Given the description of an element on the screen output the (x, y) to click on. 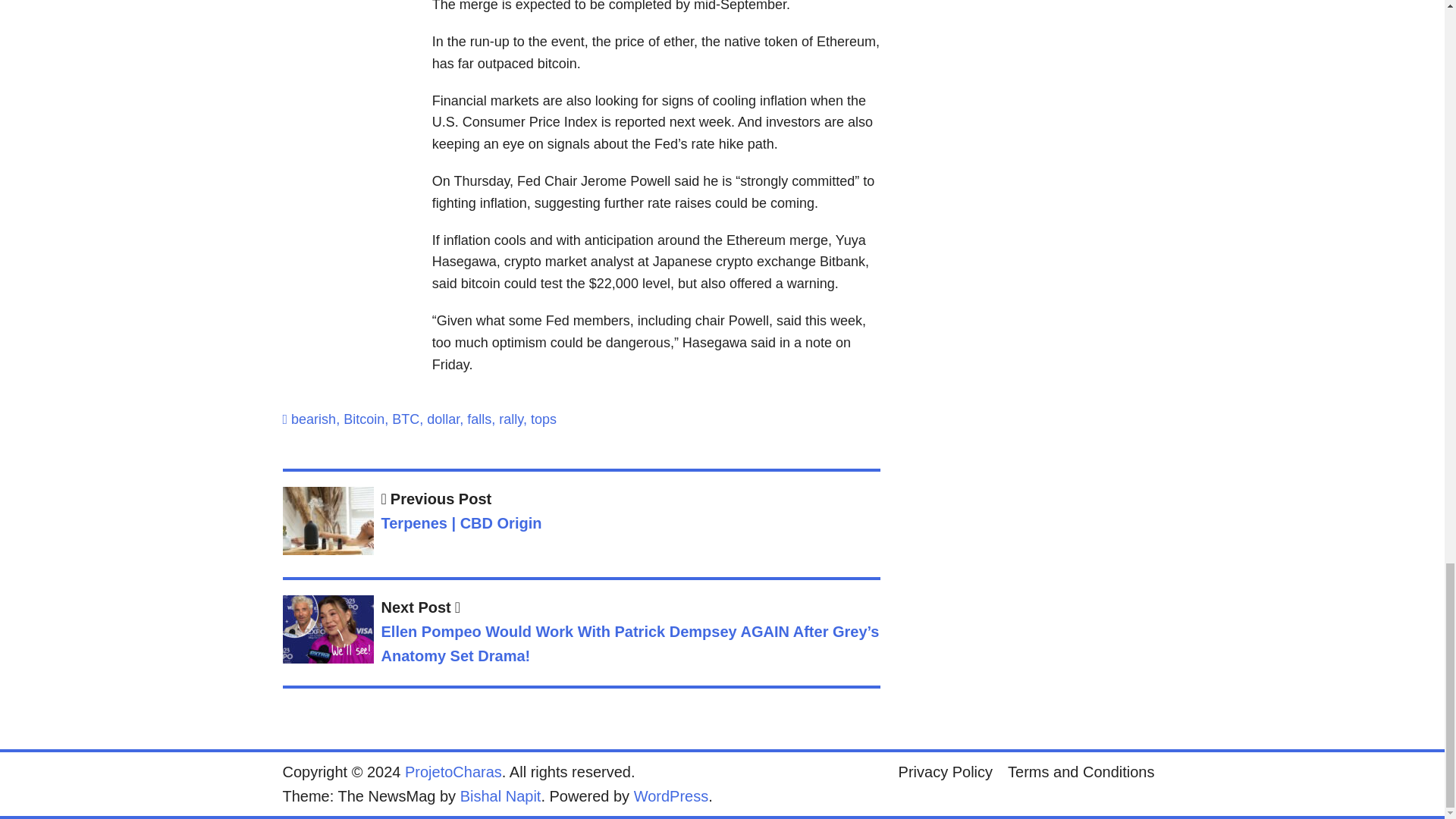
falls (479, 418)
Terms and Conditions (1080, 771)
Bishal Napit (500, 795)
ProjetoCharas (453, 771)
BTC (405, 418)
WordPress (671, 795)
Bishal Napit (500, 795)
WordPress (671, 795)
rally (510, 418)
Privacy Policy (945, 771)
